Given the description of an element on the screen output the (x, y) to click on. 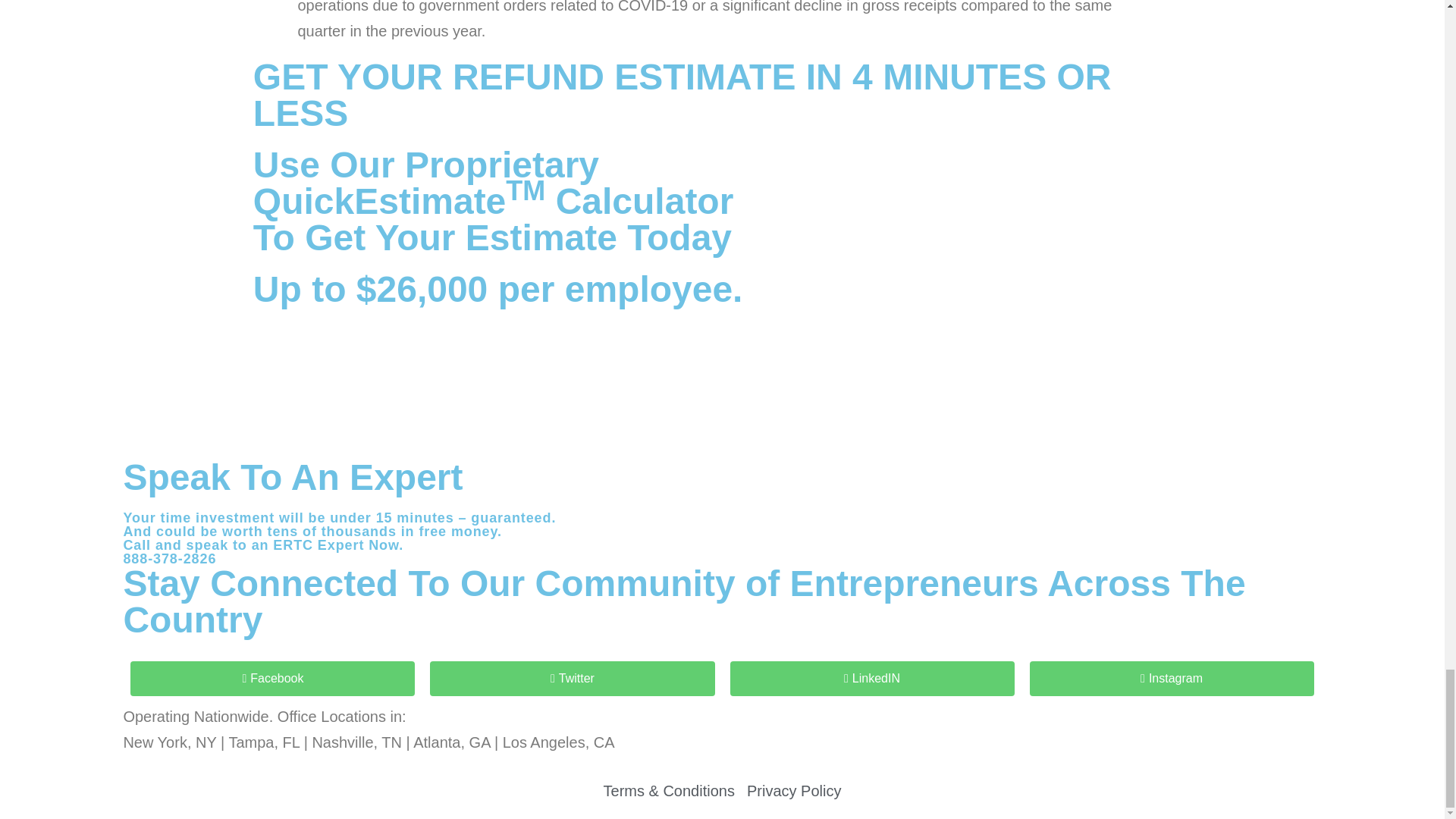
Instagram (1171, 678)
Twitter (571, 678)
LinkedIN (871, 678)
Privacy Policy (793, 790)
Facebook (272, 678)
